Given the description of an element on the screen output the (x, y) to click on. 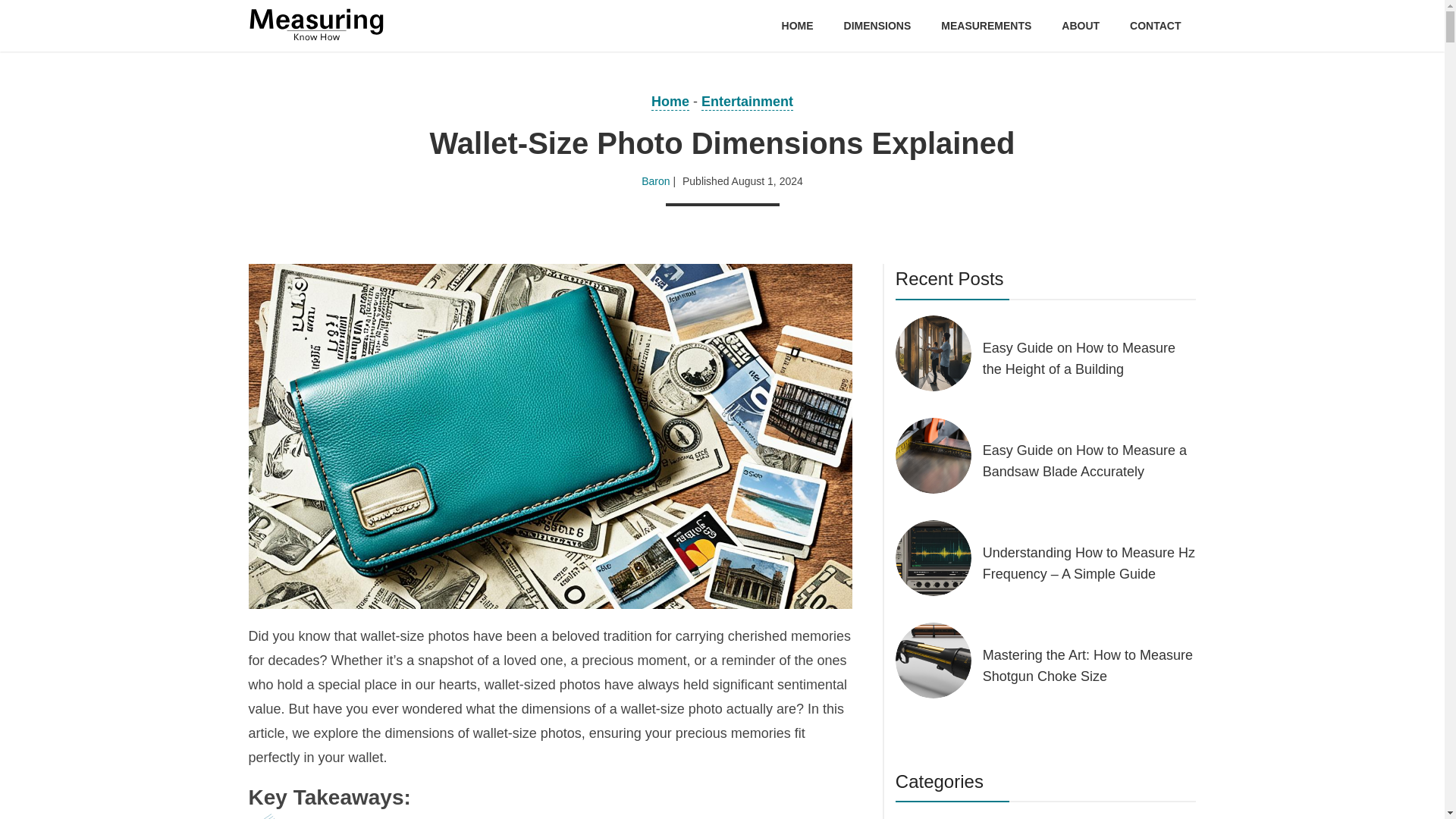
HOME (797, 25)
Home (669, 102)
Easy Guide on How to Measure the Height of a Building (1089, 358)
MEASUREMENTS (985, 25)
ABOUT (1080, 25)
Baron (655, 181)
DIMENSIONS (877, 25)
Entertainment (747, 102)
CONTACT (1154, 25)
